Given the description of an element on the screen output the (x, y) to click on. 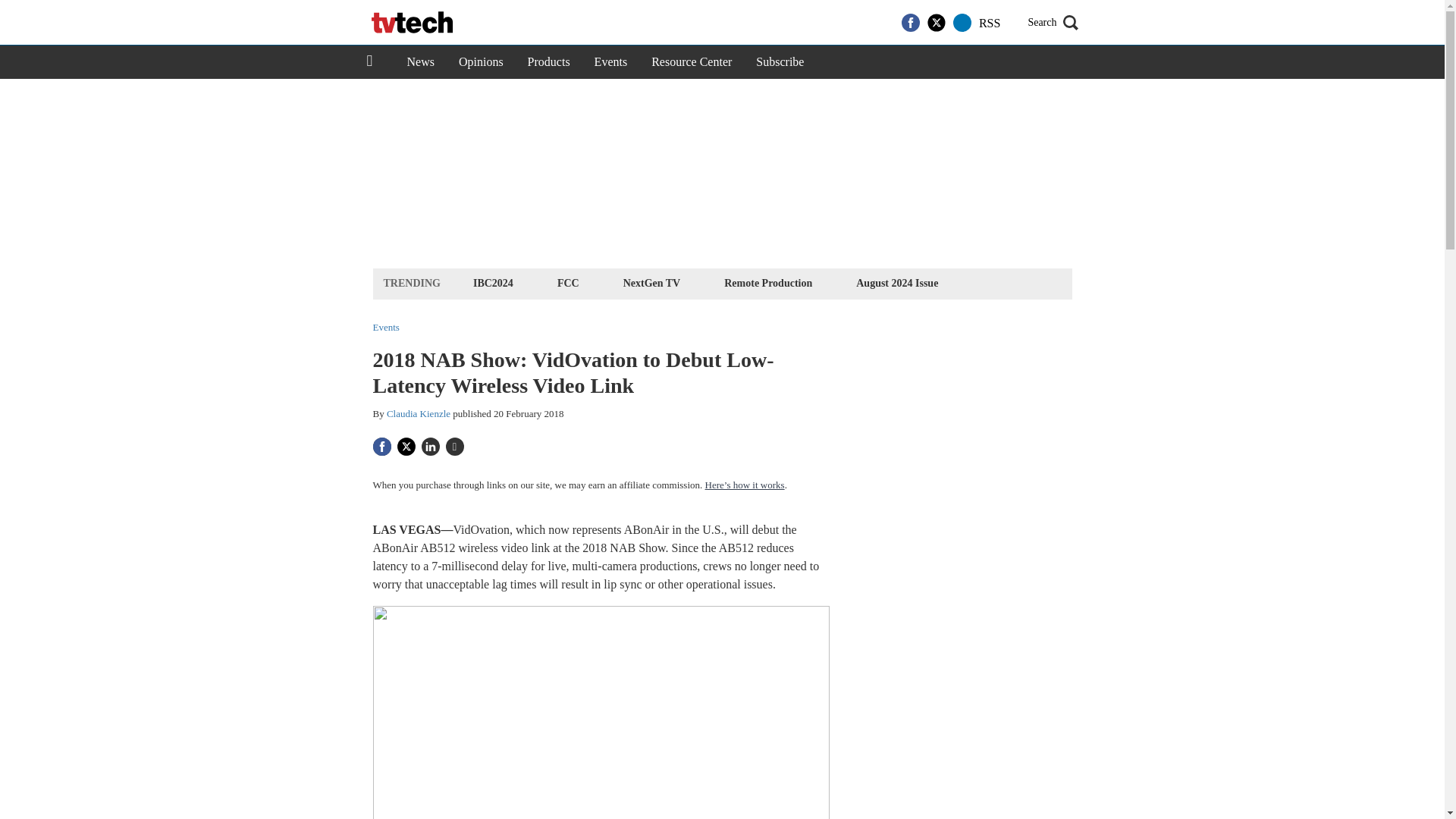
Events (611, 61)
Remote Production (767, 282)
Claudia Kienzle (418, 413)
Resource Center (691, 61)
News (419, 61)
FCC (568, 282)
IBC2024 (492, 282)
Subscribe (779, 61)
Opinions (480, 61)
NextGen TV (651, 282)
